Given the description of an element on the screen output the (x, y) to click on. 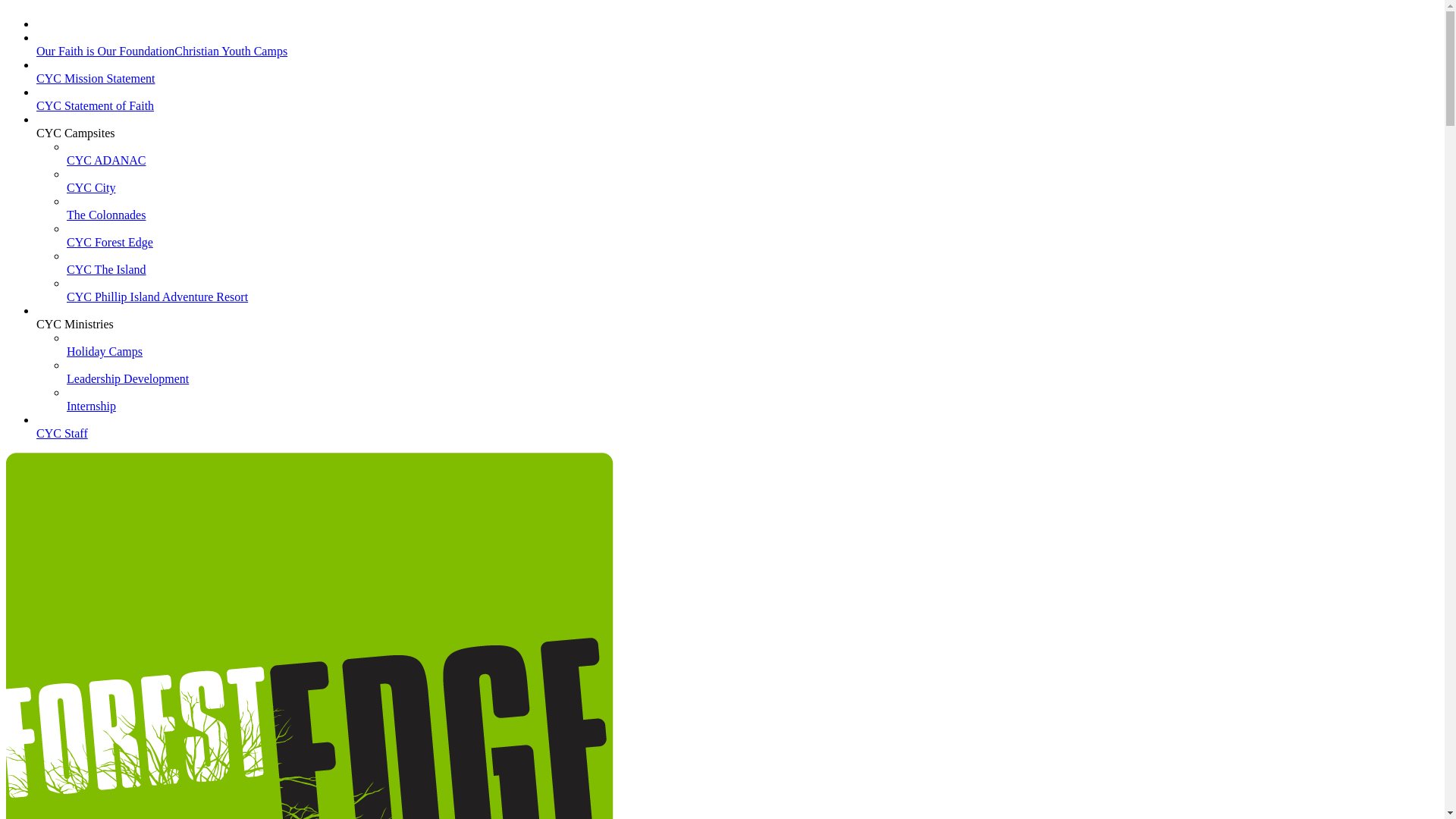
Leadership Development Element type: text (127, 385)
CYC City Element type: text (90, 194)
CYC The Island Element type: text (106, 276)
Holiday Camps Element type: text (104, 358)
Internship Element type: text (91, 412)
CYC Staff Element type: text (61, 439)
CYC Phillip Island Adventure Resort Element type: text (156, 303)
Our Faith is Our FoundationChristian Youth Camps Element type: text (161, 57)
CYC Forest Edge Element type: text (109, 248)
CYC Campsites Element type: text (75, 139)
The Colonnades Element type: text (105, 221)
CYC Ministries Element type: text (74, 330)
CYC Statement of Faith Element type: text (94, 112)
CYC Mission Statement Element type: text (95, 85)
CYC ADANAC Element type: text (105, 166)
